Given the description of an element on the screen output the (x, y) to click on. 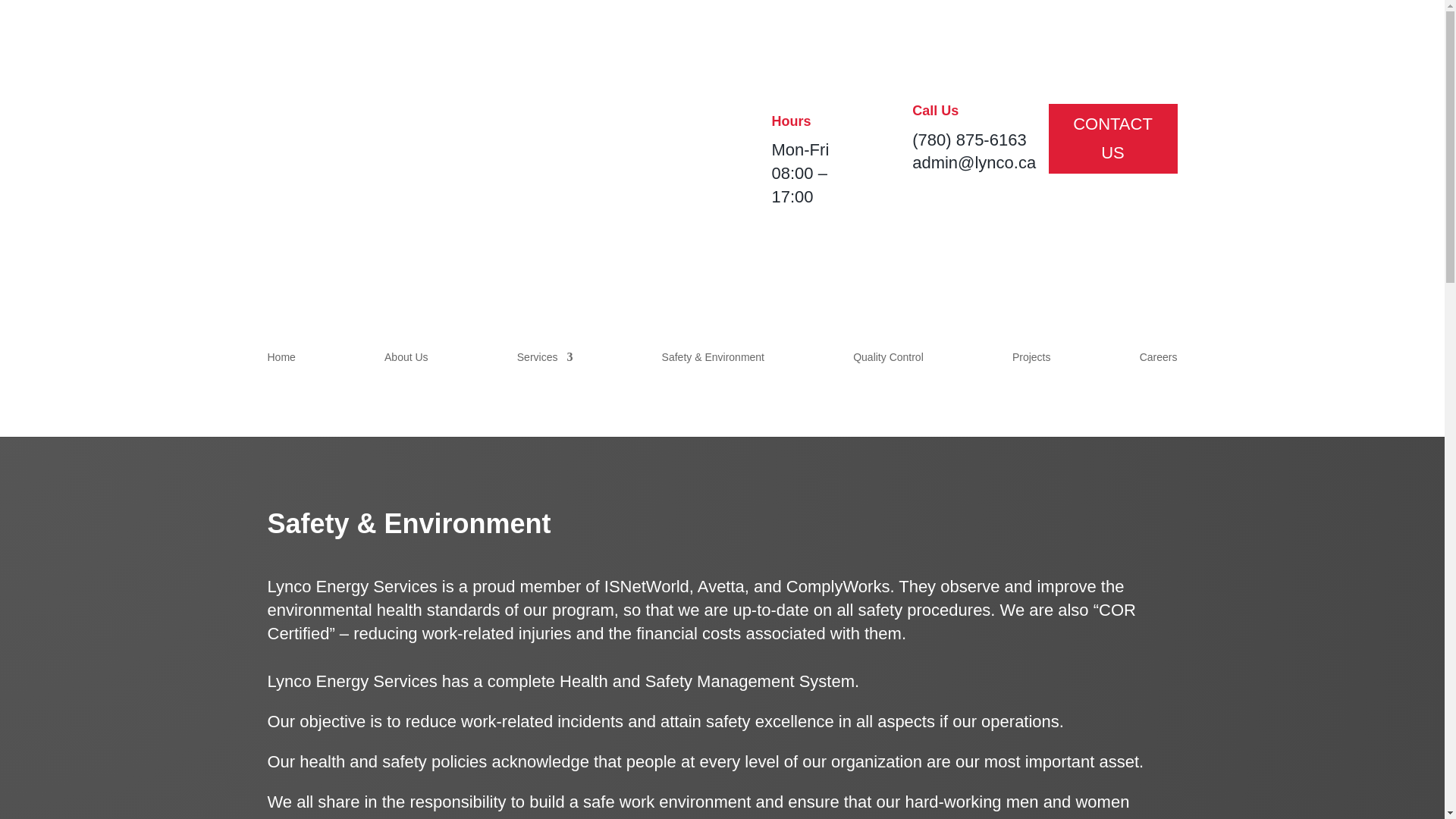
Quality Control (888, 360)
Services (544, 360)
Follow on LinkedIn (747, 79)
Careers (1158, 360)
CONTACT US (1112, 138)
About Us (406, 360)
Home (280, 360)
Projects (1031, 360)
